Given the description of an element on the screen output the (x, y) to click on. 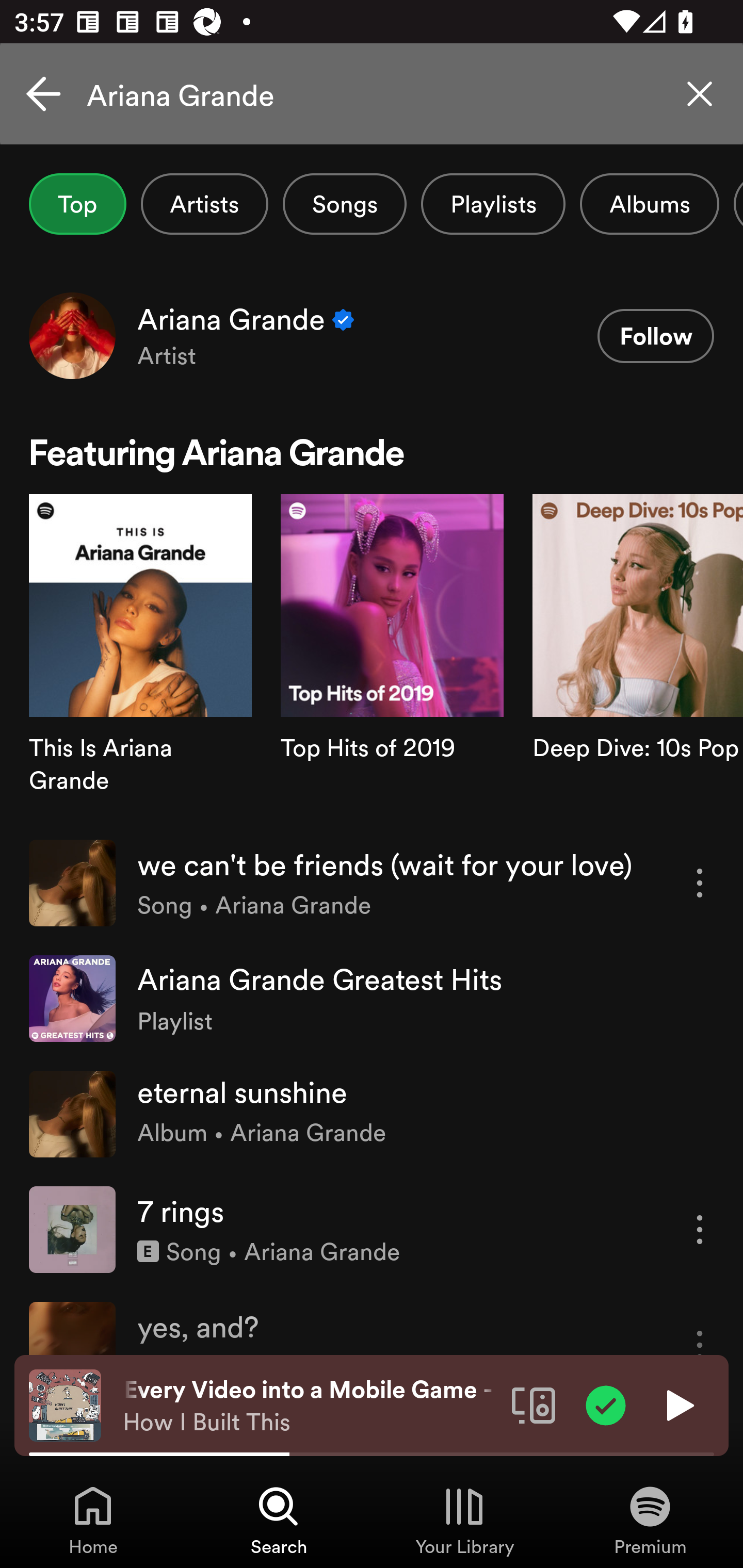
Ariana Grande (371, 93)
Cancel (43, 93)
Clear search query (699, 93)
Top (77, 203)
Artists (204, 203)
Songs (344, 203)
Playlists (493, 203)
Albums (649, 203)
Ariana Grande Verified Artist Follow Follow (371, 335)
Follow (655, 335)
Search card image This Is Ariana Grande (139, 658)
Search card image Top Hits of 2019 (391, 658)
Search card image Deep Dive: 10s Pop (637, 658)
Ariana Grande Greatest Hits Playlist (371, 998)
eternal sunshine Album • Ariana Grande (371, 1113)
More options for song 7 rings (699, 1229)
More options for song yes, and? (699, 1327)
The cover art of the currently playing track (64, 1404)
Connect to a device. Opens the devices menu (533, 1404)
Item added (605, 1404)
Play (677, 1404)
Home, Tab 1 of 4 Home Home (92, 1519)
Search, Tab 2 of 4 Search Search (278, 1519)
Your Library, Tab 3 of 4 Your Library Your Library (464, 1519)
Premium, Tab 4 of 4 Premium Premium (650, 1519)
